Given the description of an element on the screen output the (x, y) to click on. 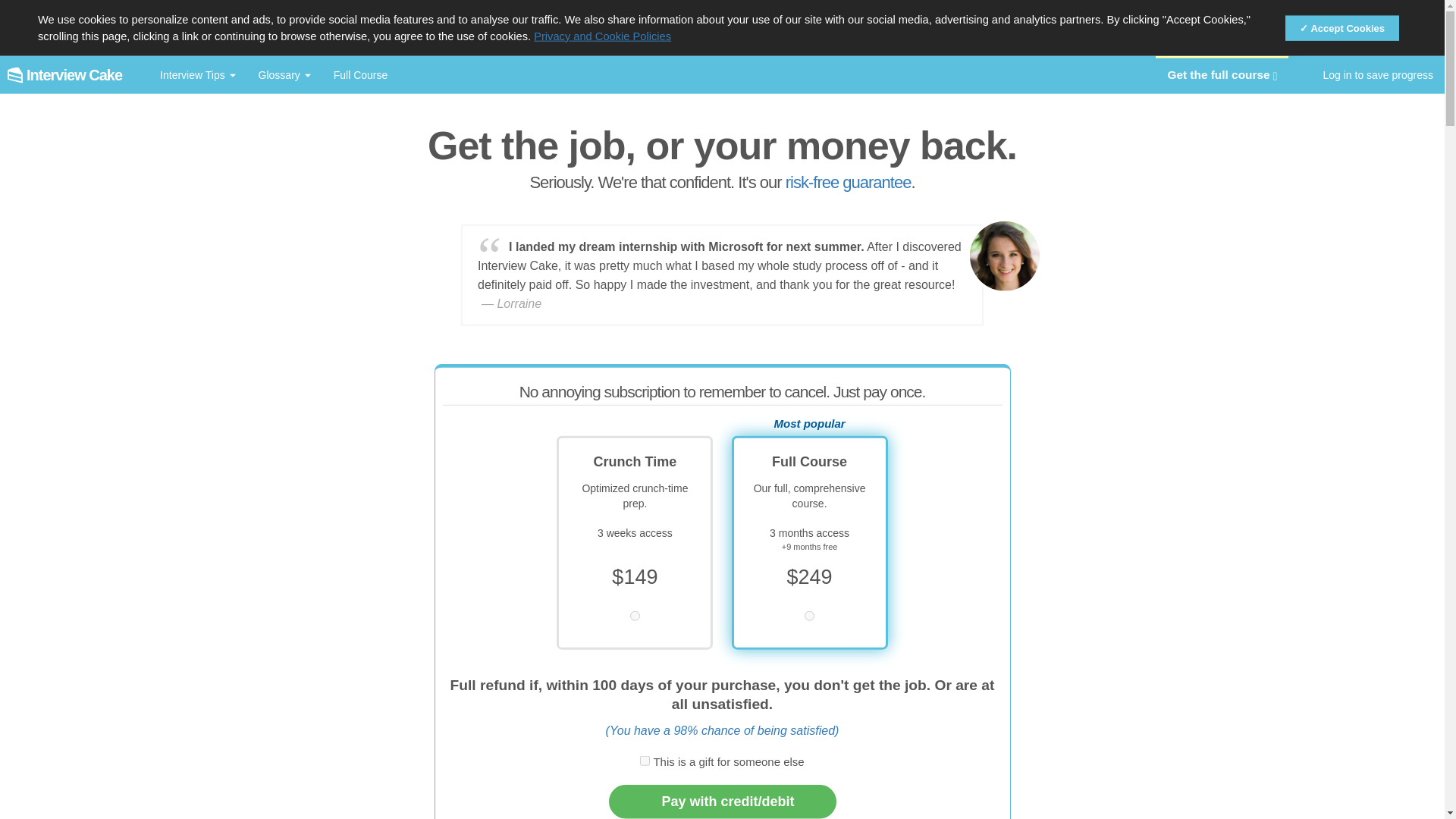
Privacy and Cookie Policies (602, 35)
risk-free guarantee (848, 181)
Glossary (284, 75)
Interview Tips (197, 75)
Interview Cake (70, 75)
on (644, 764)
Accept Cookies (1342, 28)
Accept Cookies (1342, 28)
